Given the description of an element on the screen output the (x, y) to click on. 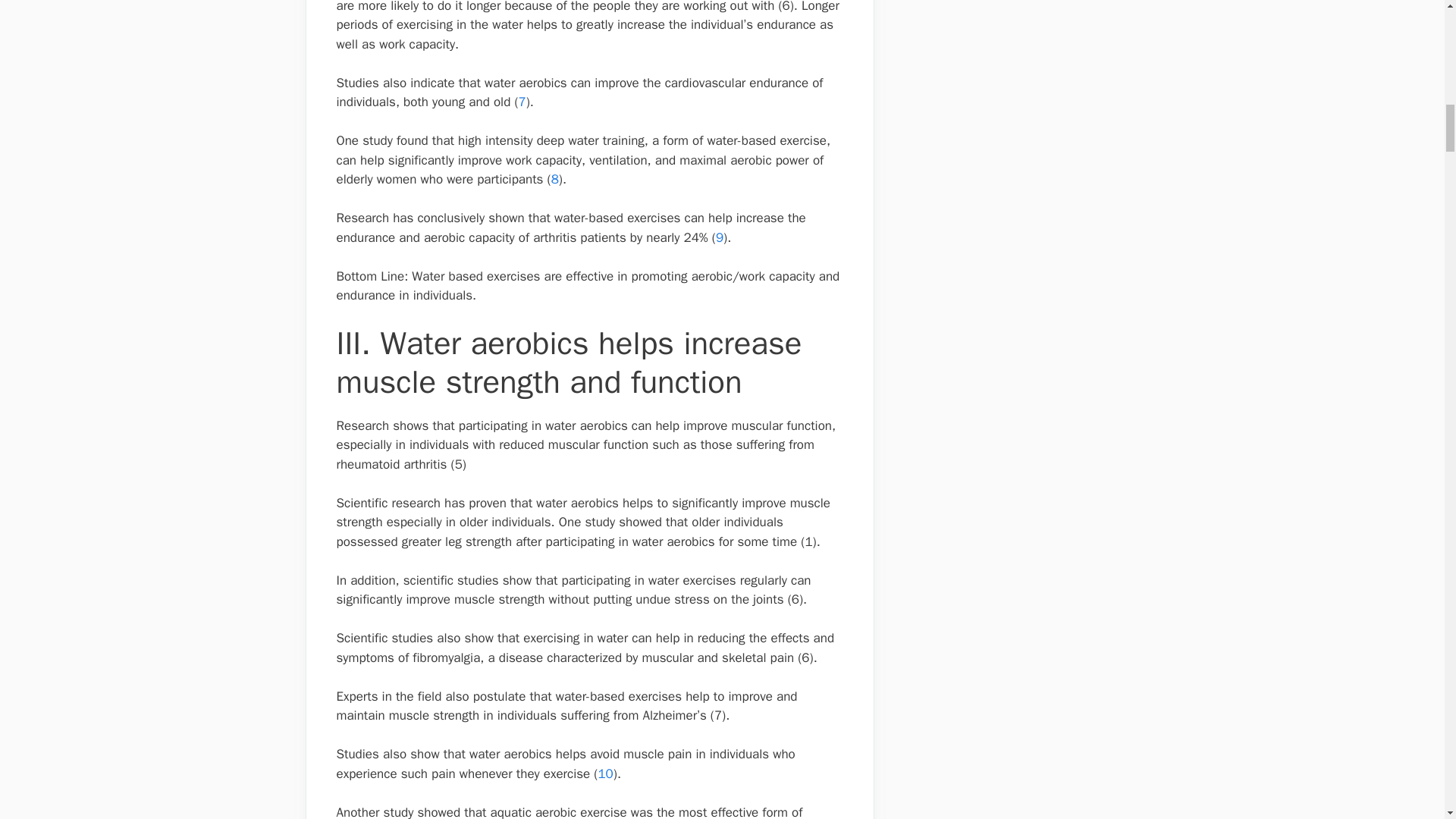
10 (604, 773)
